Given the description of an element on the screen output the (x, y) to click on. 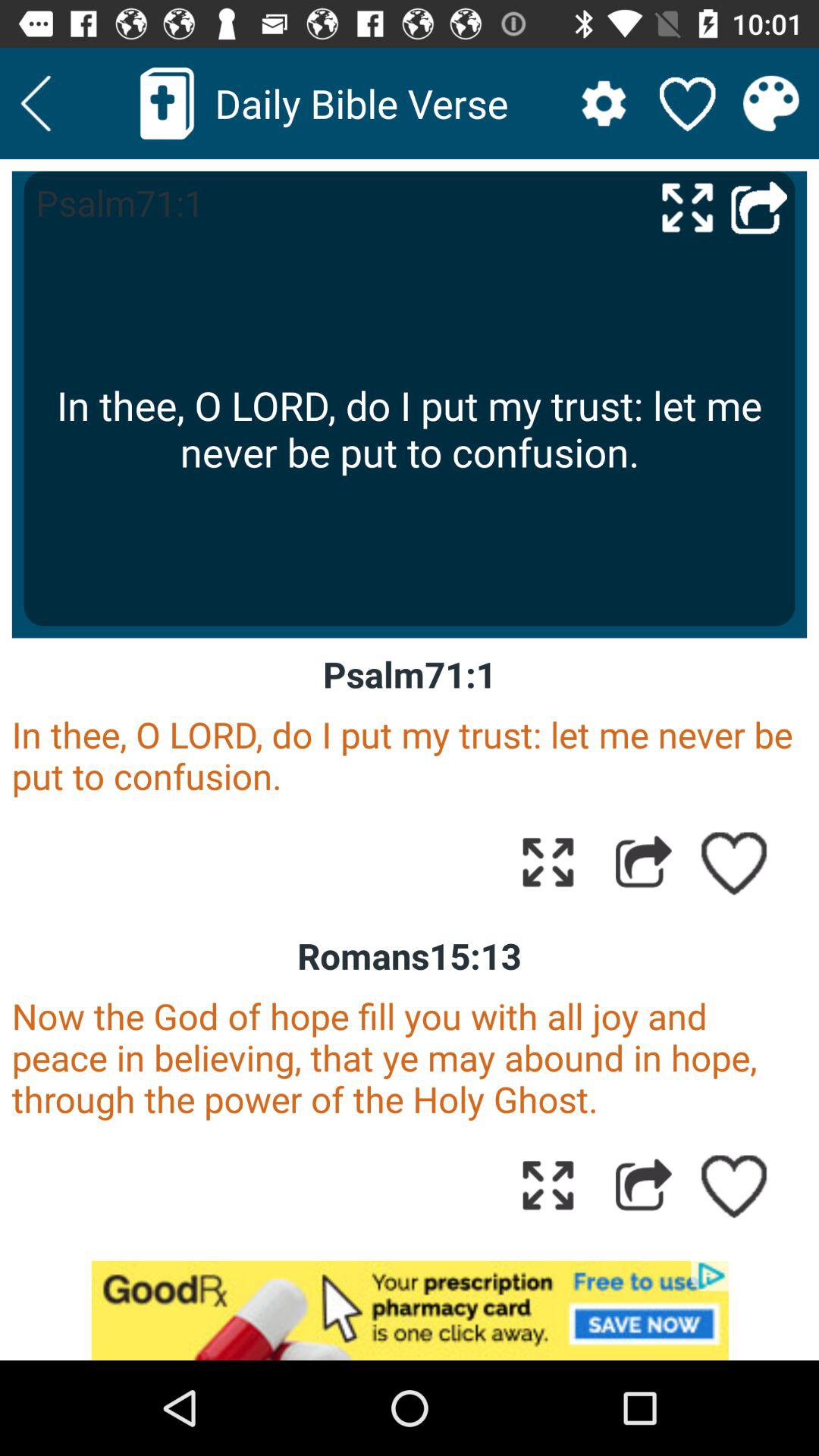
go to advertisement page (409, 1310)
